Given the description of an element on the screen output the (x, y) to click on. 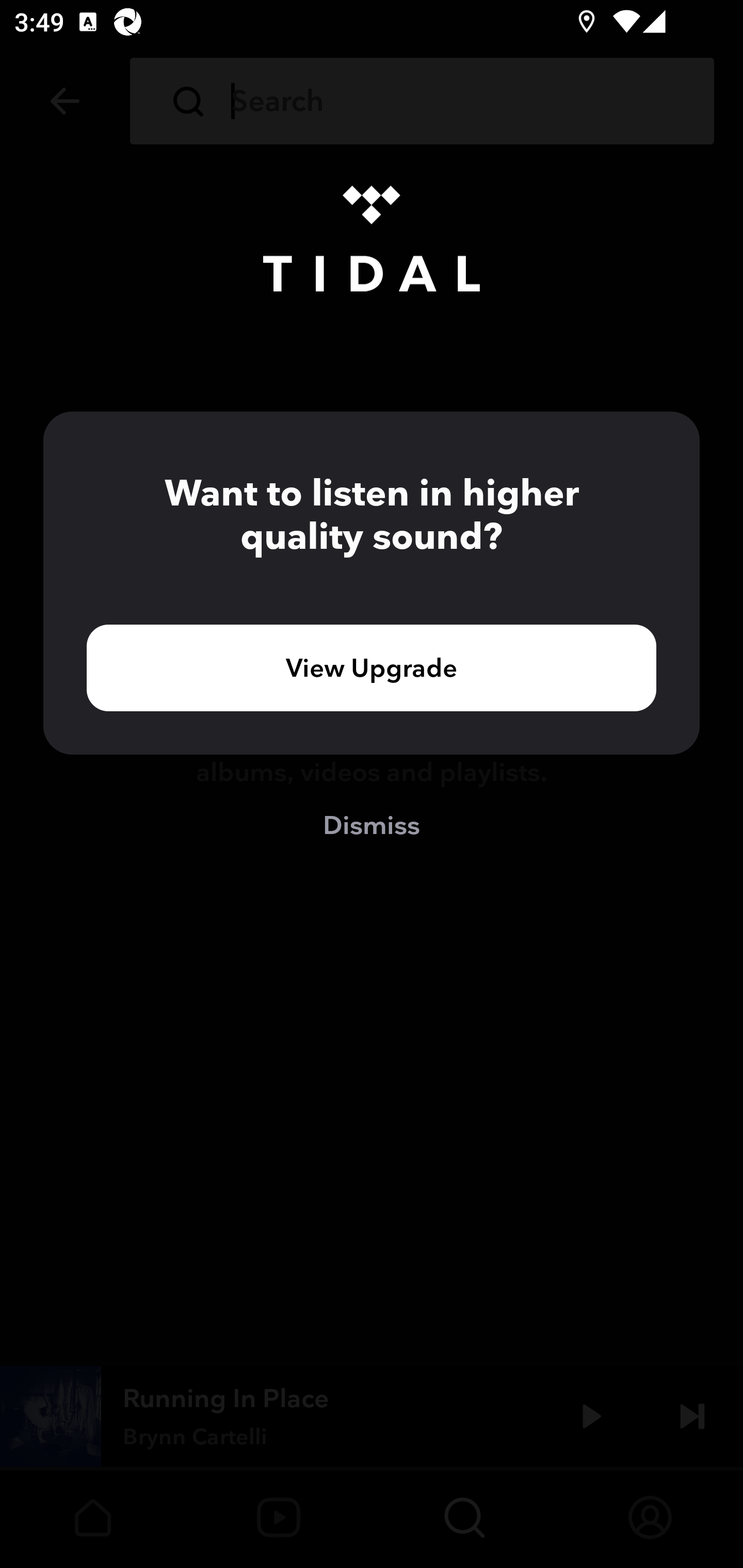
View Upgrade (371, 667)
Dismiss (371, 824)
